Given the description of an element on the screen output the (x, y) to click on. 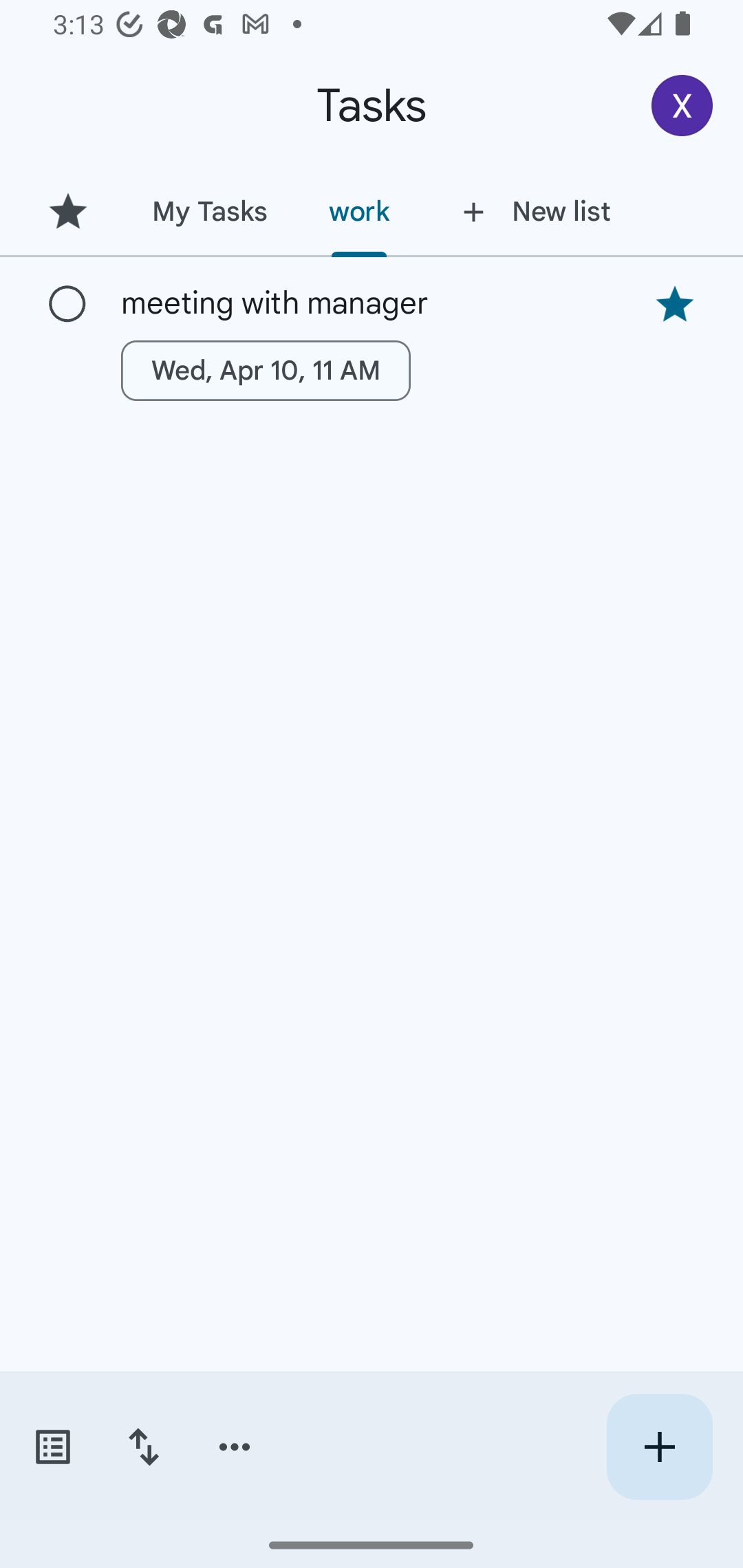
Starred (67, 211)
My Tasks (209, 211)
New list (530, 211)
Remove star (674, 303)
Mark as complete (67, 304)
Wed, Apr 10, 11 AM (265, 369)
Switch task lists (52, 1447)
Create new task (659, 1446)
Change sort order (143, 1446)
More options (234, 1446)
